Given the description of an element on the screen output the (x, y) to click on. 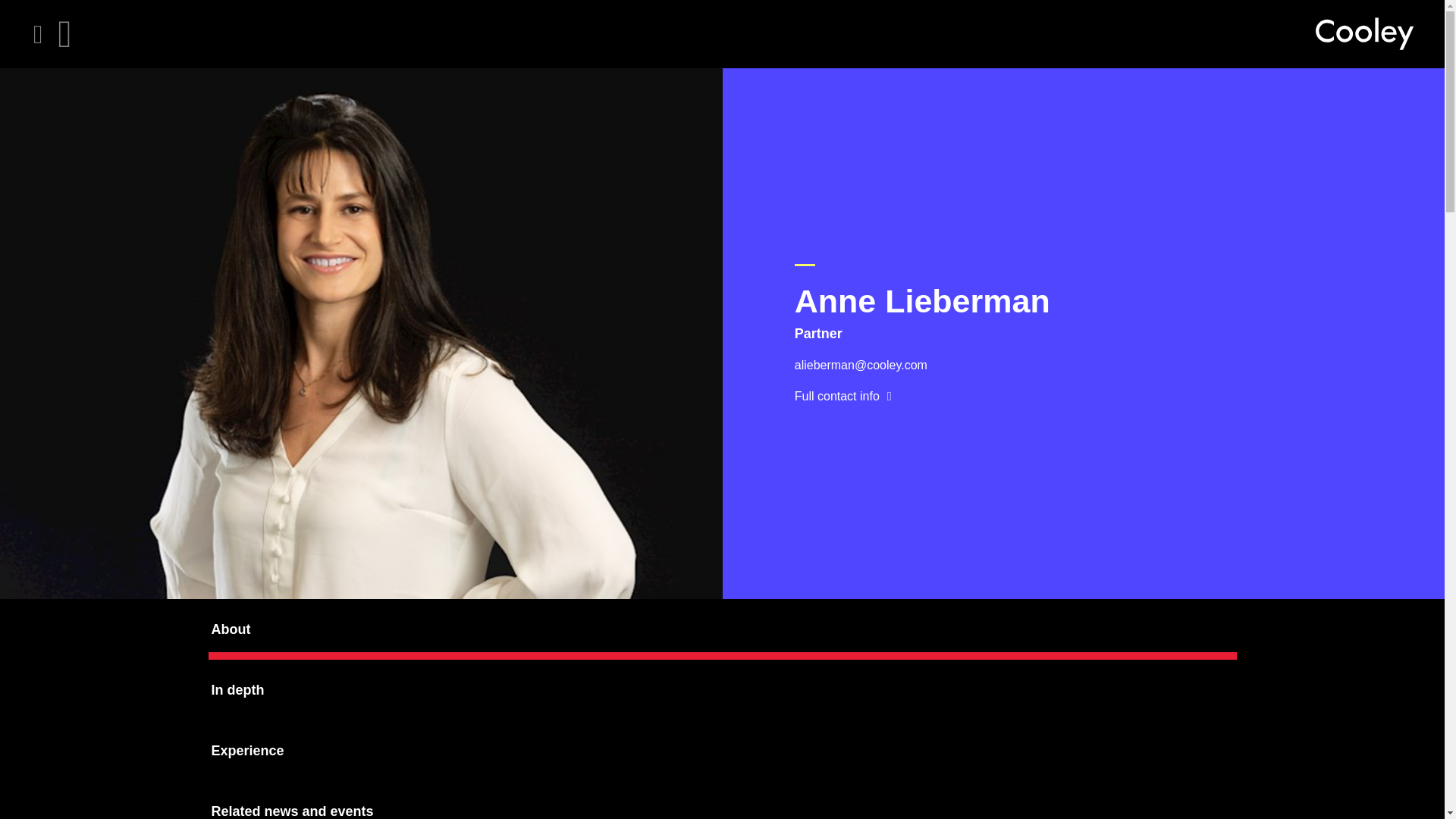
About (722, 629)
Experience (722, 750)
Full contact info (842, 395)
Related news and events (722, 800)
In depth (722, 690)
Skip to main content (12, 12)
